Given the description of an element on the screen output the (x, y) to click on. 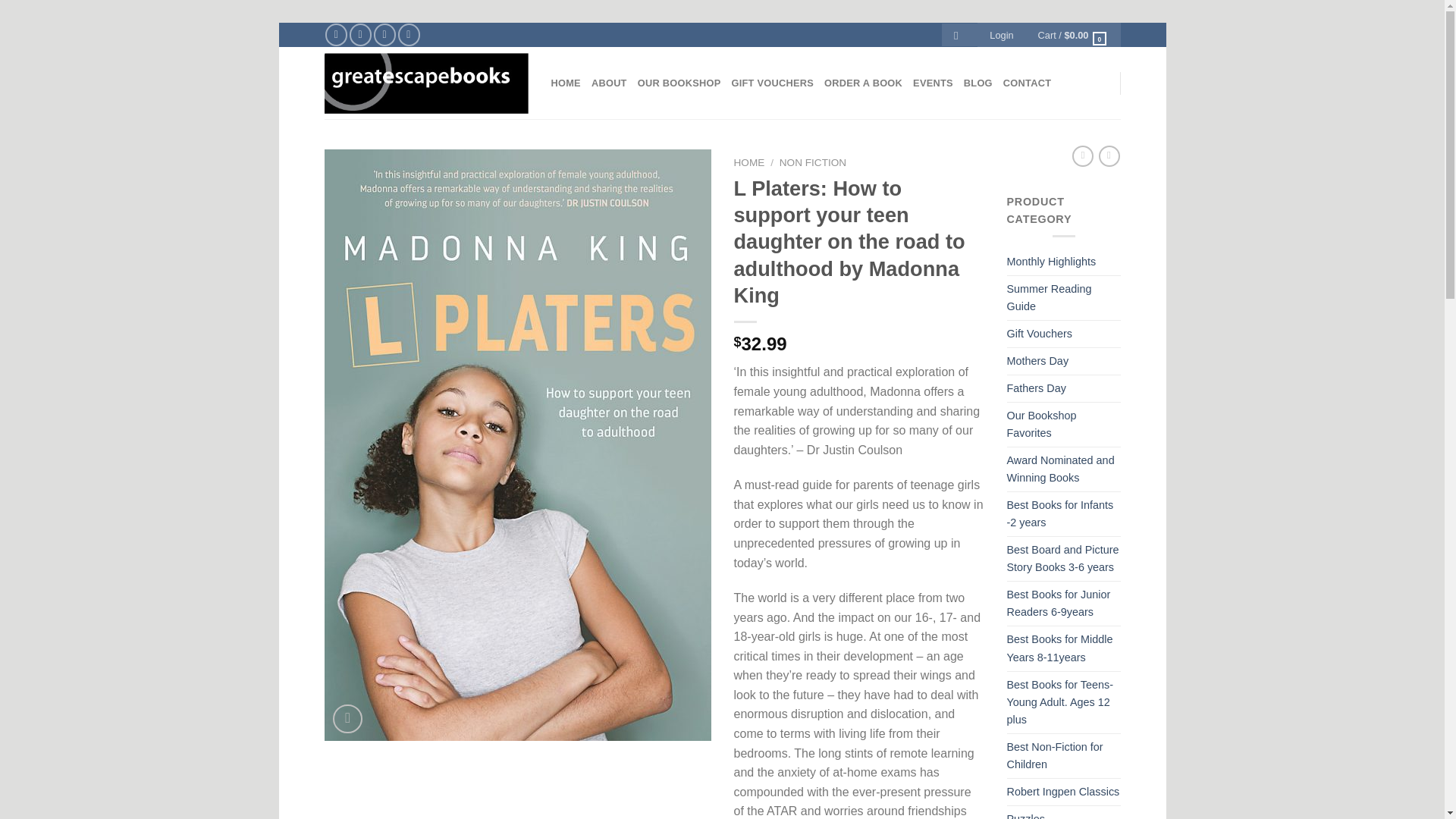
ABOUT (609, 83)
NON FICTION (811, 162)
Send us an email (385, 34)
HOME (564, 83)
OUR BOOKSHOP (678, 83)
GIFT VOUCHERS (771, 83)
Follow on Instagram (360, 34)
Call us (408, 34)
Zoom (347, 718)
